Given the description of an element on the screen output the (x, y) to click on. 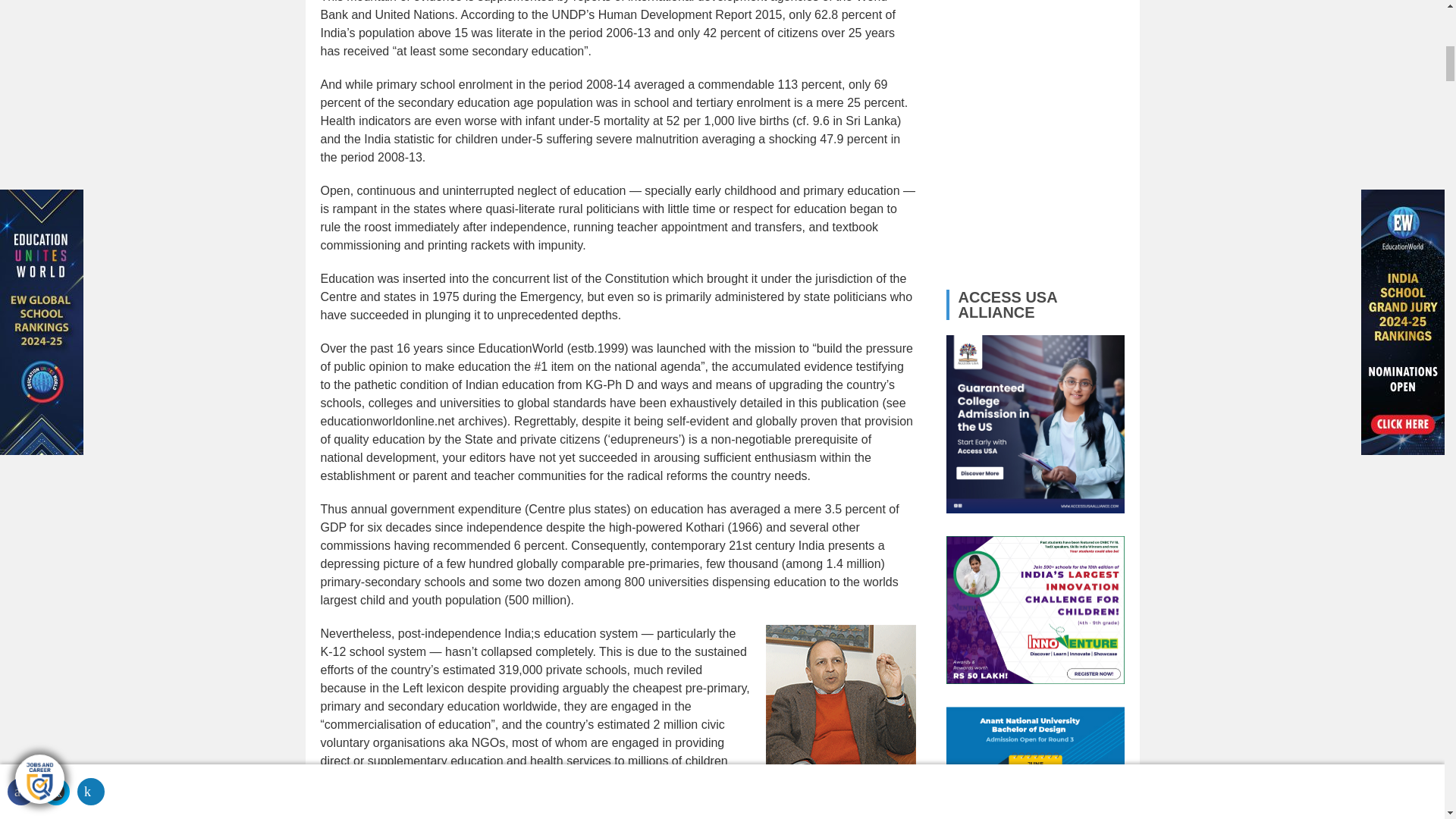
EducationWorld and ParentsWorld June 2024 issues (1035, 130)
Access USA Alliance (1035, 423)
